Given the description of an element on the screen output the (x, y) to click on. 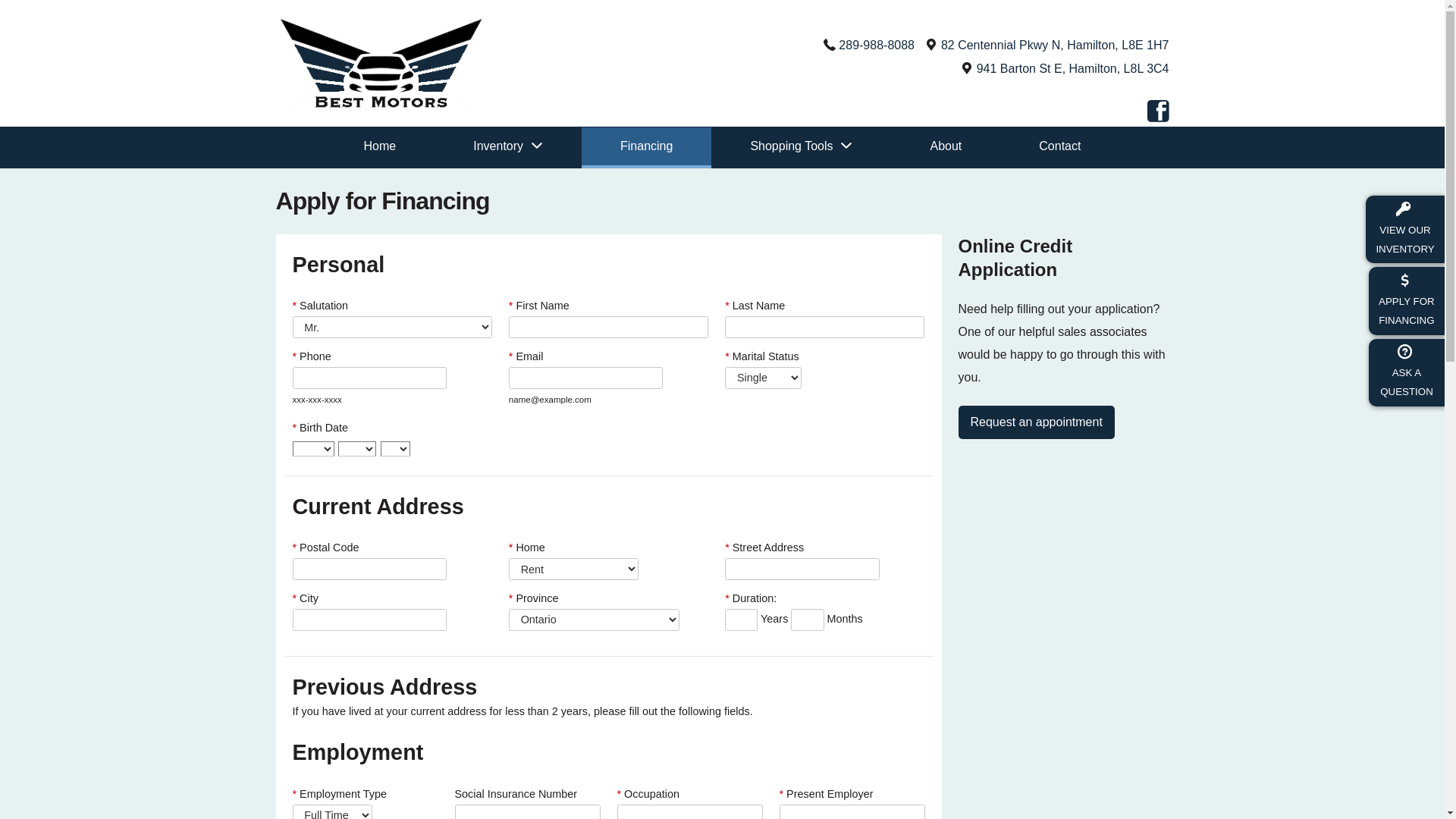
Best Motors Element type: text (381, 114)
941 Barton St E, Hamilton,
ON
L8L 3C4 Element type: text (1072, 68)
MONEY ICON

APPLY FOR
FINANCING Element type: text (1406, 300)
82 Centennial Pkwy N, Hamilton,
Ontario
L8E 1H7 Element type: text (1055, 44)
289-988-8088 Element type: text (876, 44)
Home Element type: text (380, 147)
KEY ICON

VIEW OUR
INVENTORY Element type: text (1404, 229)
About Element type: text (945, 147)
Request an appointment Element type: text (1036, 422)
Financing Element type: text (646, 147)
QUESTION MARK ICON

ASK A
QUESTION Element type: text (1406, 372)
facebook icon Element type: text (1157, 114)
Contact Element type: text (1059, 147)
